Given the description of an element on the screen output the (x, y) to click on. 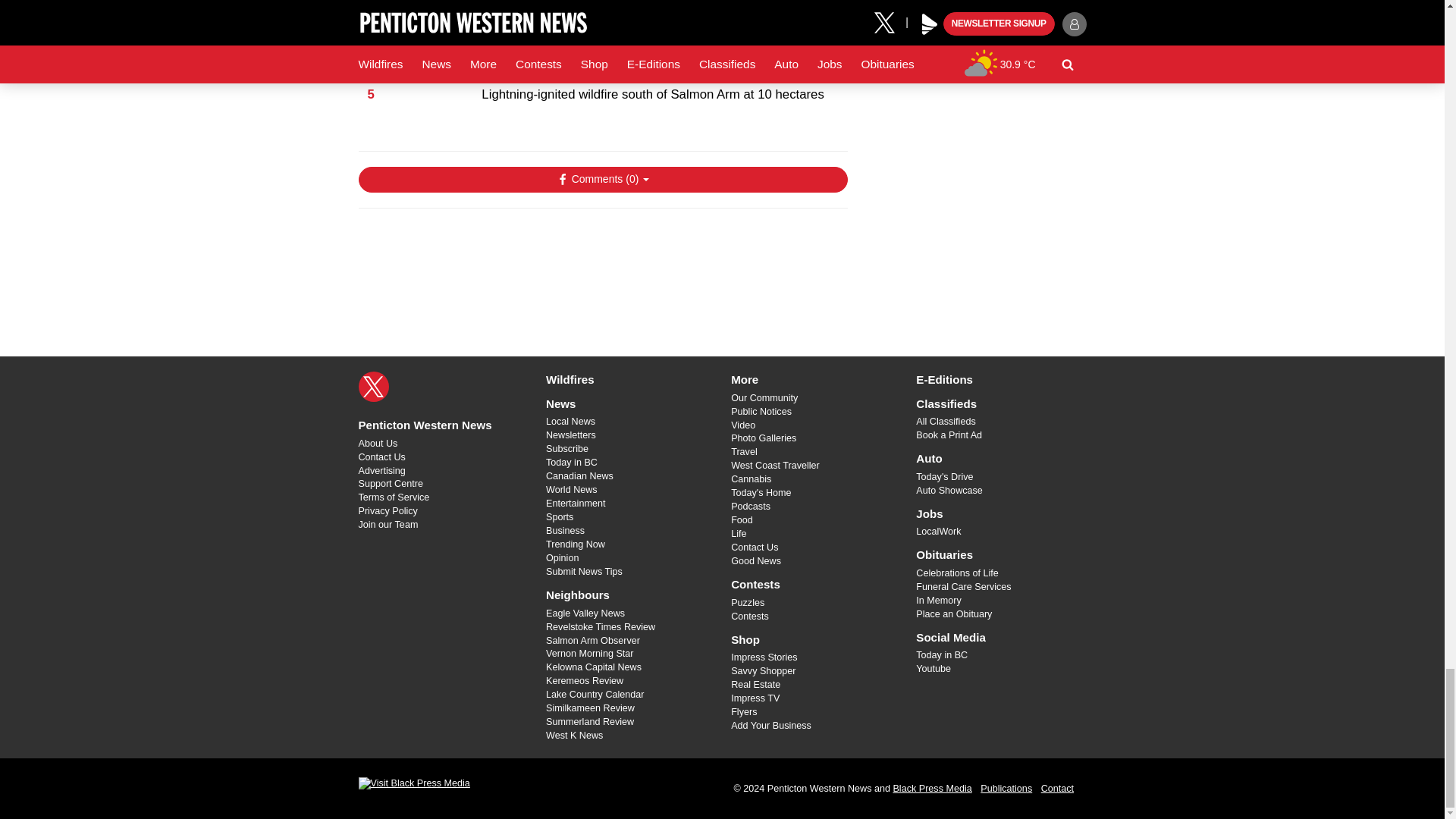
X (373, 386)
Show Comments (602, 179)
